Given the description of an element on the screen output the (x, y) to click on. 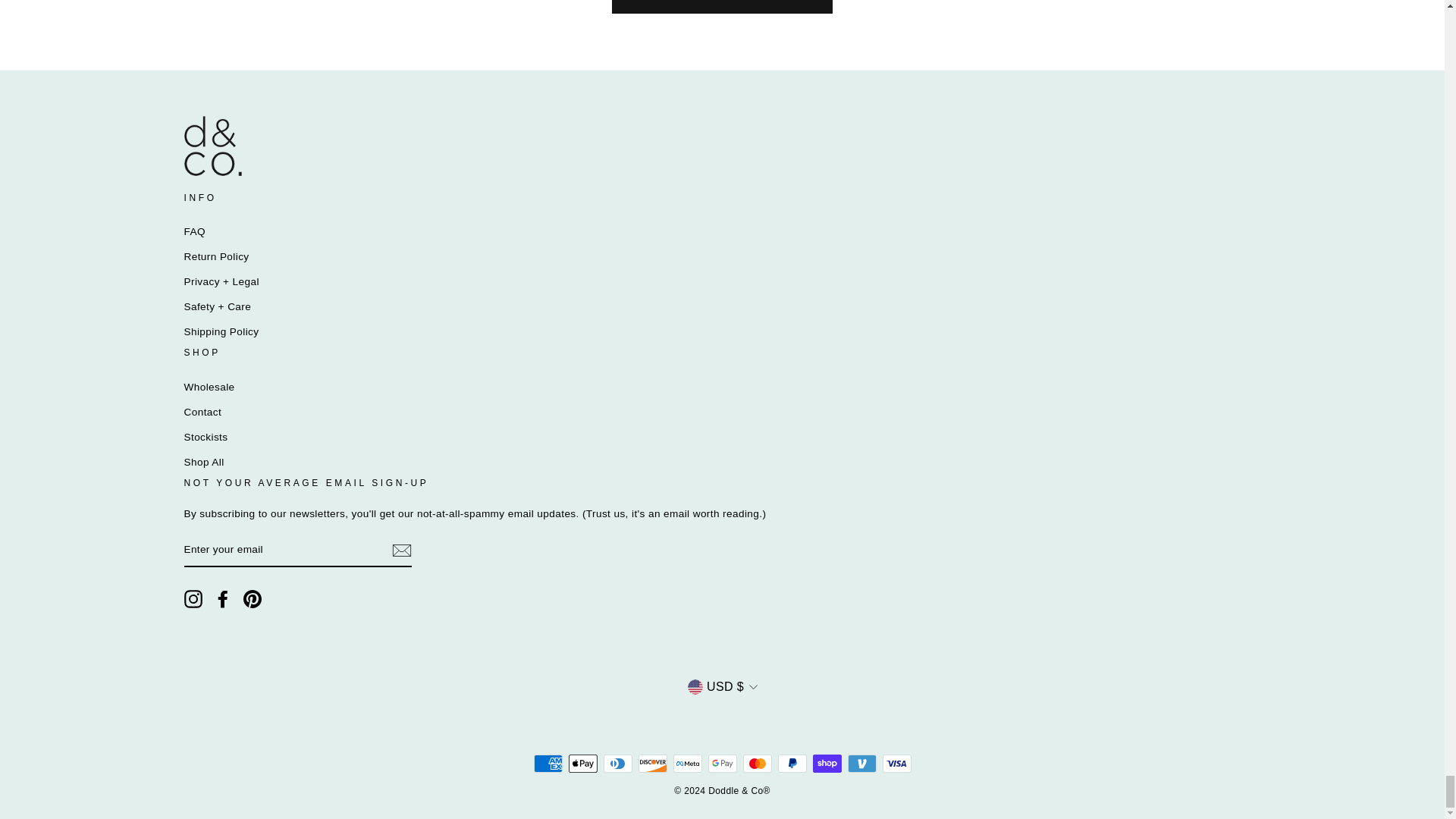
American Express (548, 762)
Discover (652, 762)
Diners Club (617, 762)
Apple Pay (582, 762)
